Given the description of an element on the screen output the (x, y) to click on. 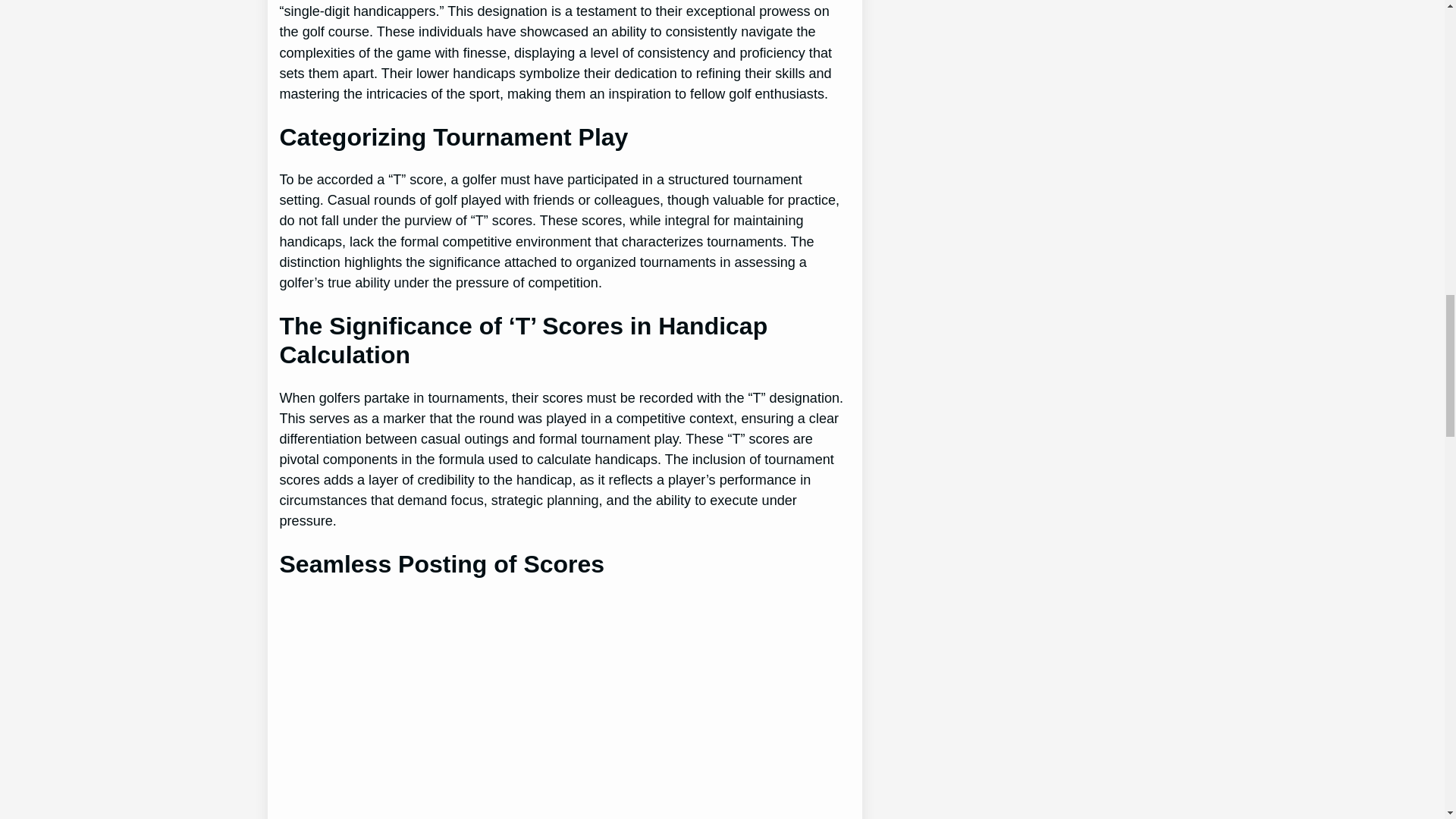
How does 'T' work in Golf Score? 3 (506, 708)
